Given the description of an element on the screen output the (x, y) to click on. 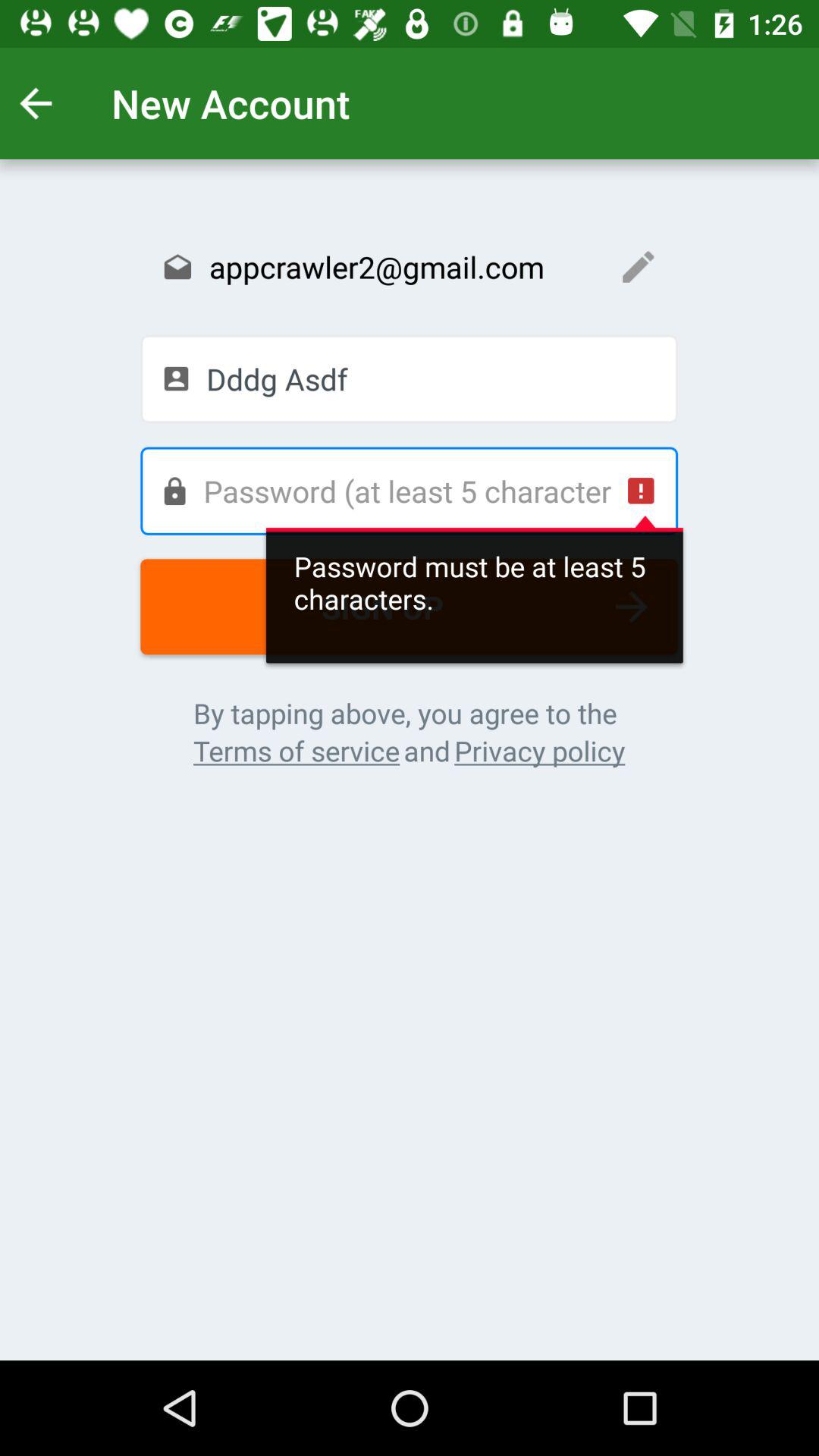
enter password (408, 491)
